Given the description of an element on the screen output the (x, y) to click on. 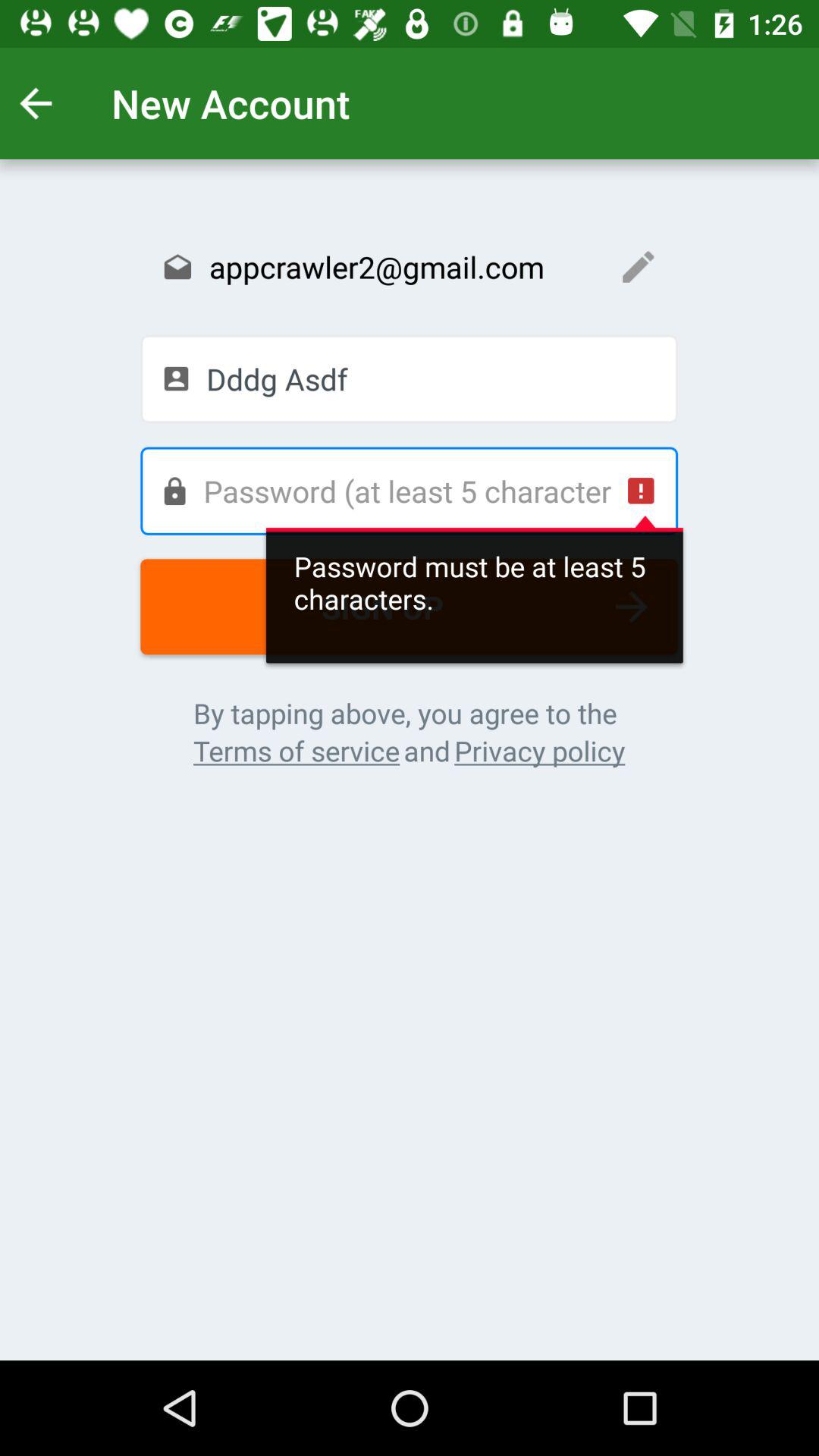
enter password (408, 491)
